Given the description of an element on the screen output the (x, y) to click on. 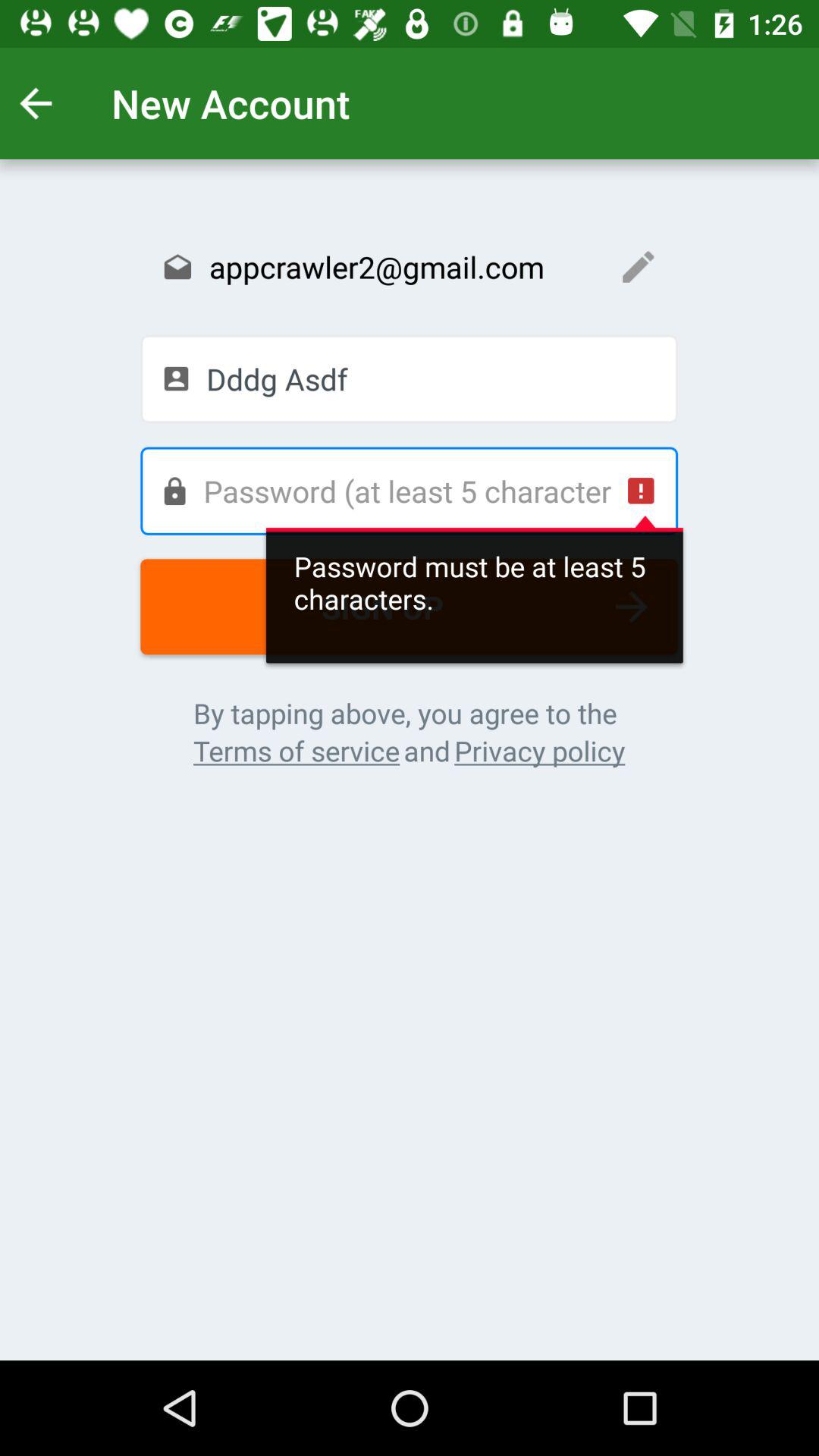
enter password (408, 491)
